Given the description of an element on the screen output the (x, y) to click on. 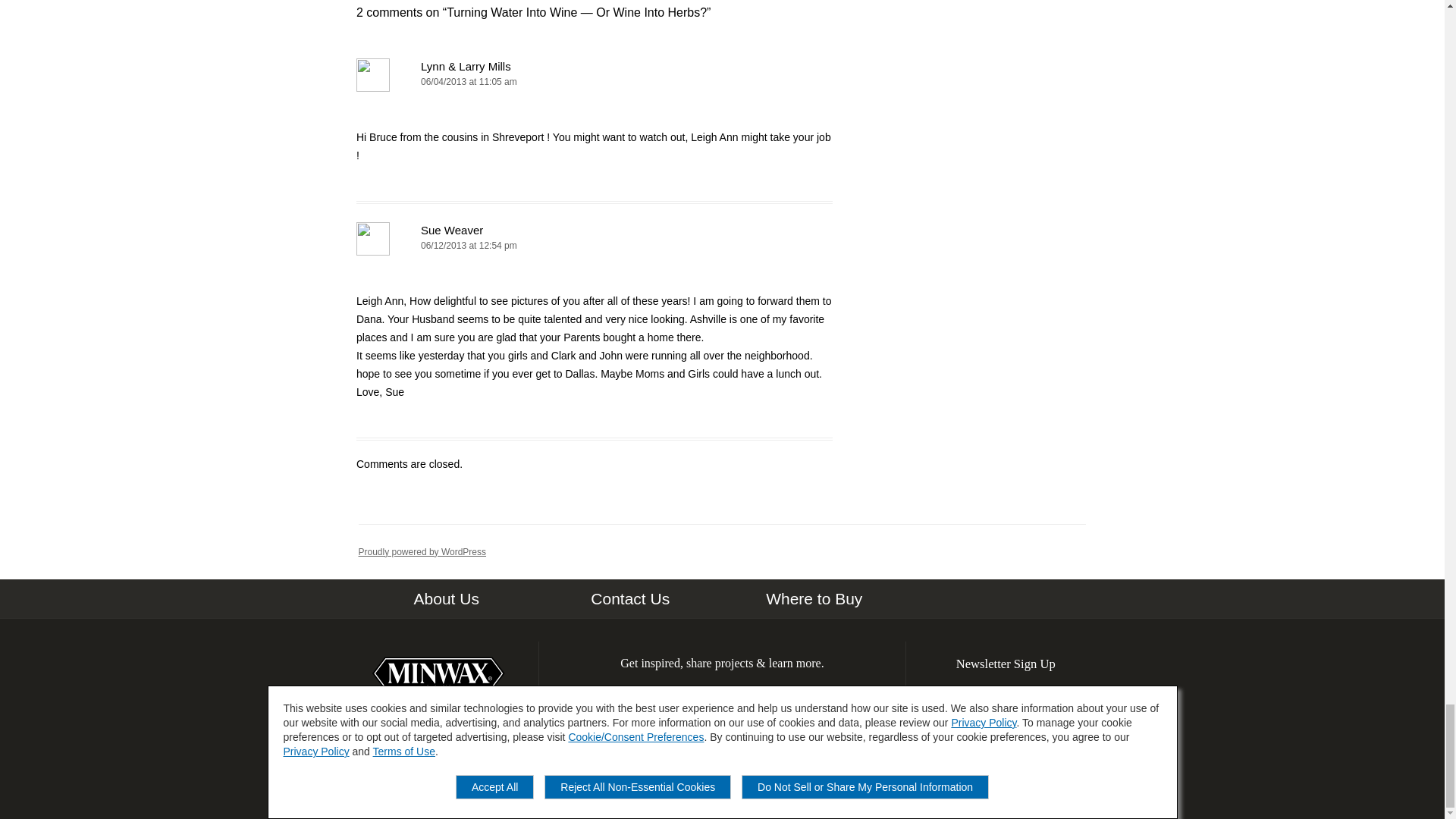
Semantic Personal Publishing Platform (422, 552)
